Given the description of an element on the screen output the (x, y) to click on. 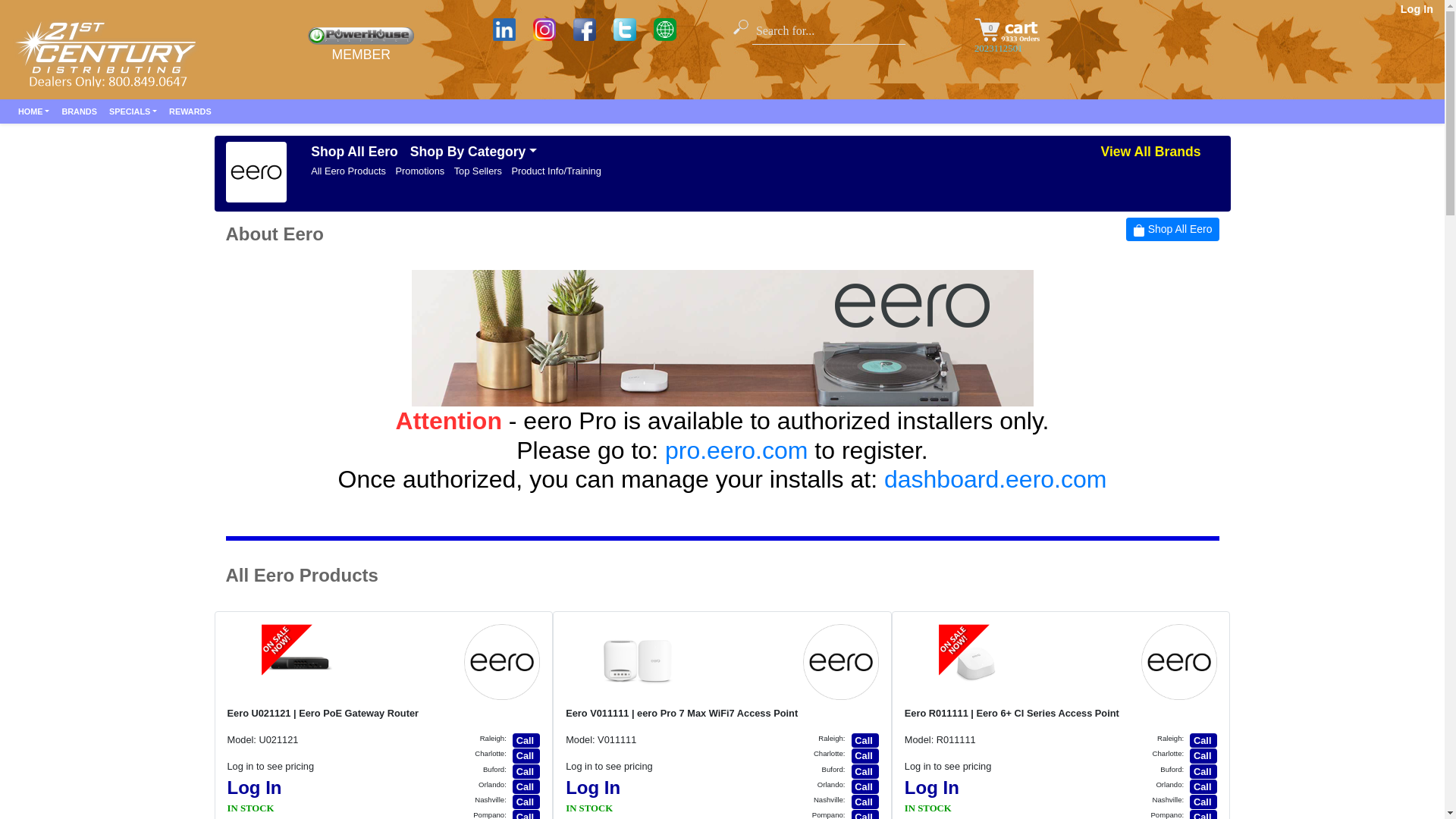
All Eero Products Element type: text (347, 171)
View All Brands Element type: text (1150, 151)
Log In Element type: text (1416, 9)
pro.eero.com Element type: text (736, 450)
Product Info/Training Element type: text (555, 171)
Promotions Element type: text (419, 171)
Log In Element type: text (592, 787)
dashboard.eero.com Element type: text (995, 478)
Top Sellers Element type: text (478, 171)
HOME Element type: text (33, 111)
REWARDS Element type: text (190, 111)
BRANDS Element type: text (79, 111)
SPECIALS Element type: text (133, 111)
Shop By Category Element type: text (473, 151)
Log In Element type: text (254, 787)
Log In Element type: text (931, 787)
Shop All Eero Element type: text (1172, 229)
Shop All Eero Element type: text (354, 151)
